Given the description of an element on the screen output the (x, y) to click on. 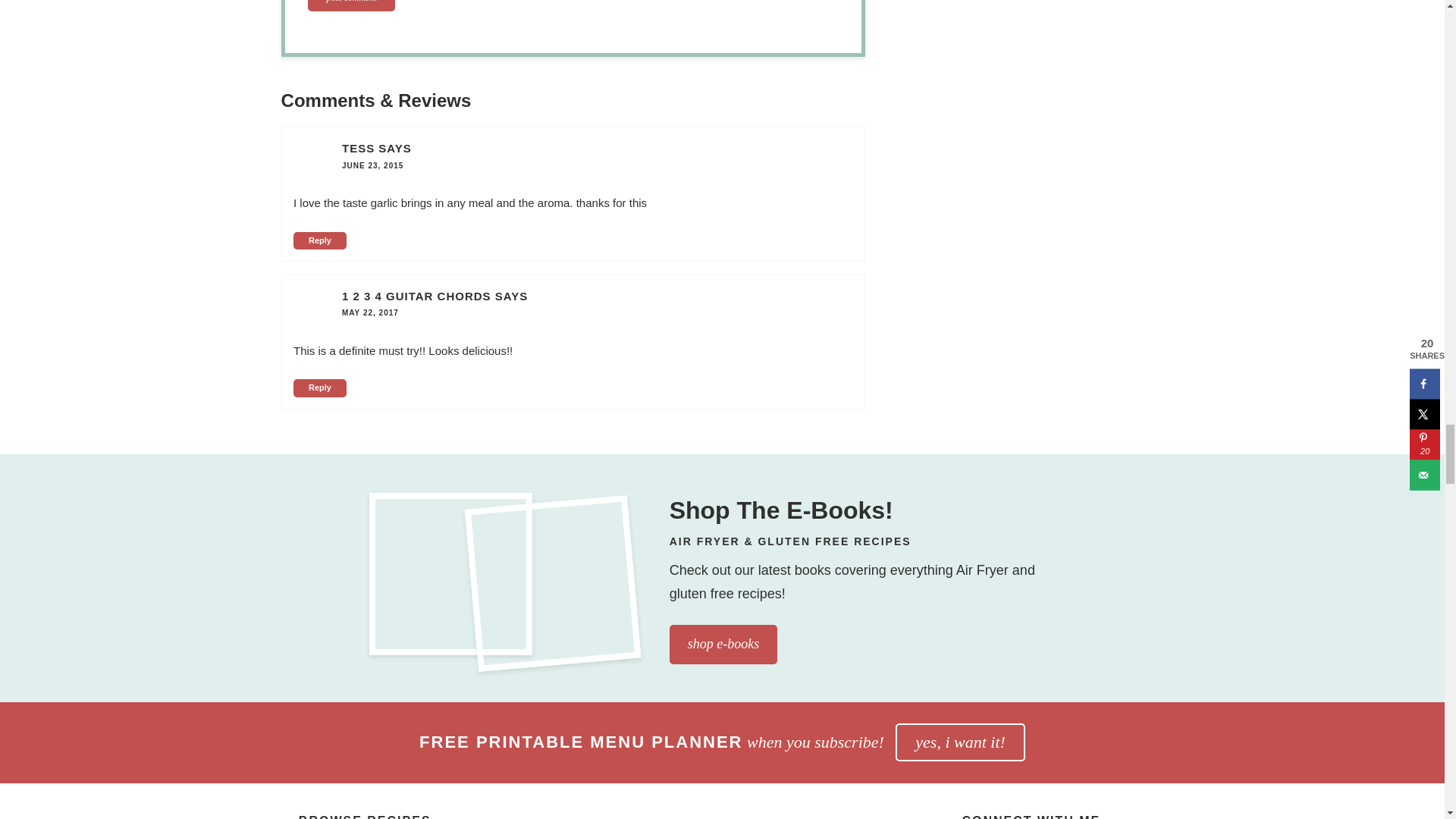
Post Comment (350, 5)
